Given the description of an element on the screen output the (x, y) to click on. 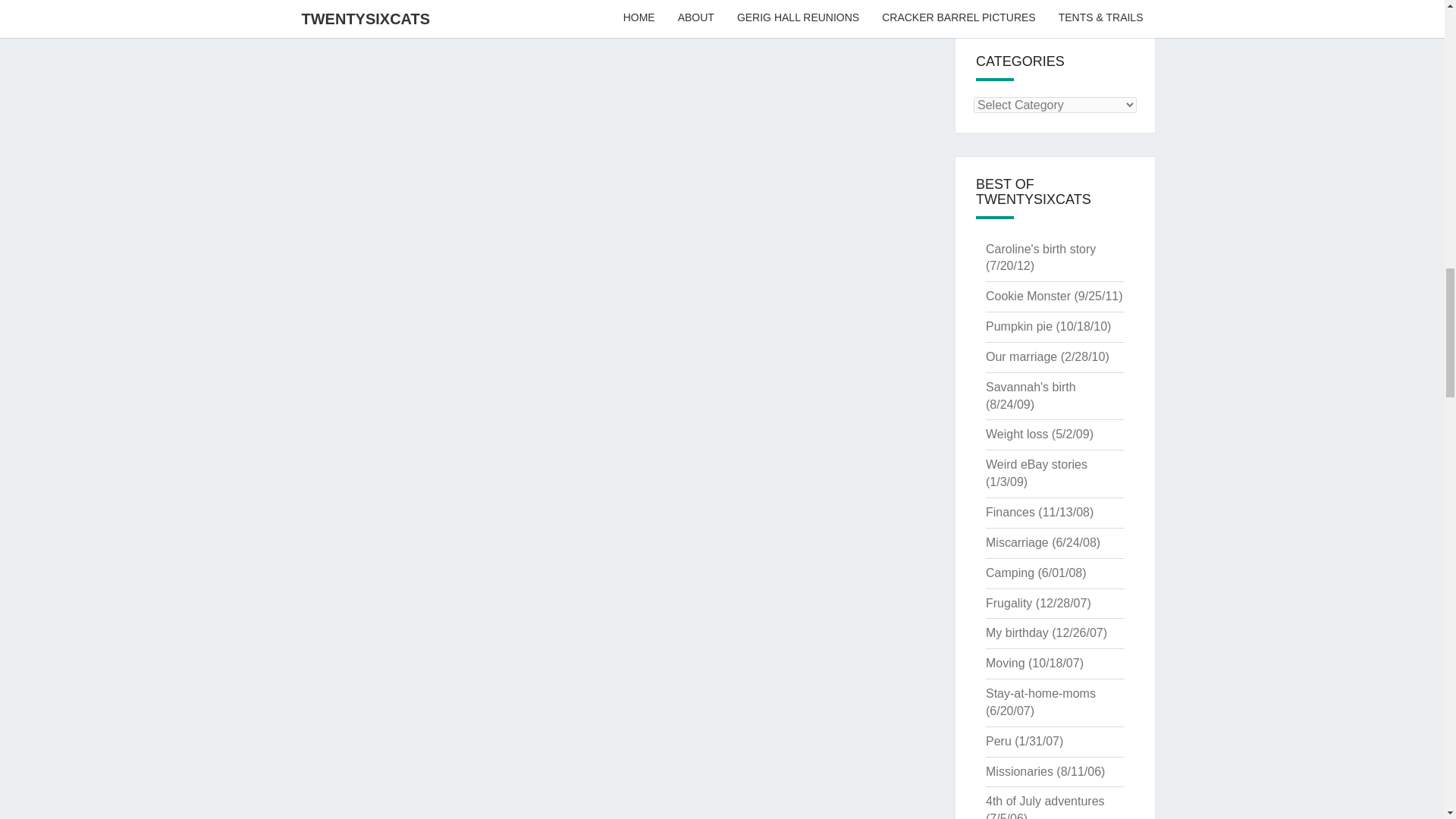
Pumpkin pie (1018, 326)
Weight loss (1016, 433)
Savannah's birth (1030, 386)
Our marriage (1021, 356)
Caroline's birth story (1040, 248)
Weird eBay stories (1036, 463)
Cookie Monster (1027, 295)
